Given the description of an element on the screen output the (x, y) to click on. 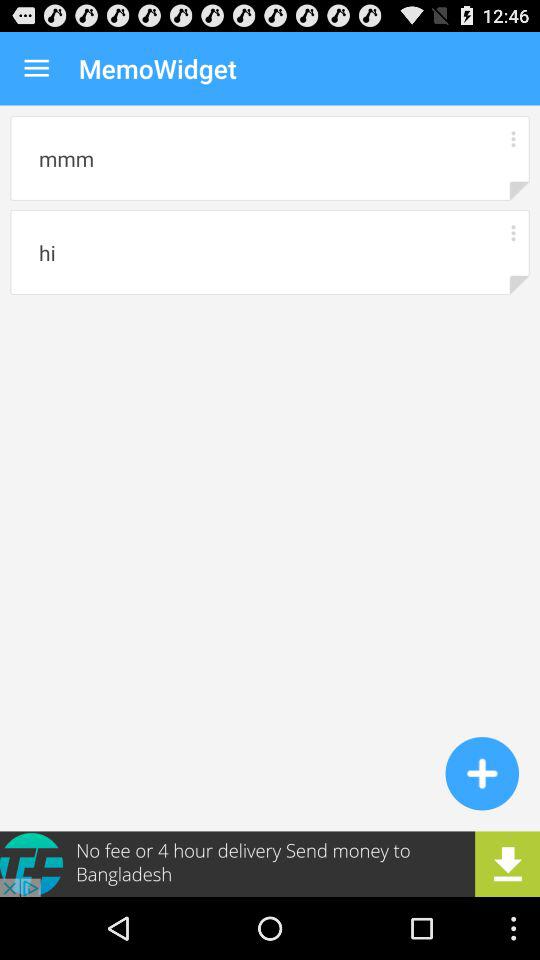
new memo (482, 773)
